Given the description of an element on the screen output the (x, y) to click on. 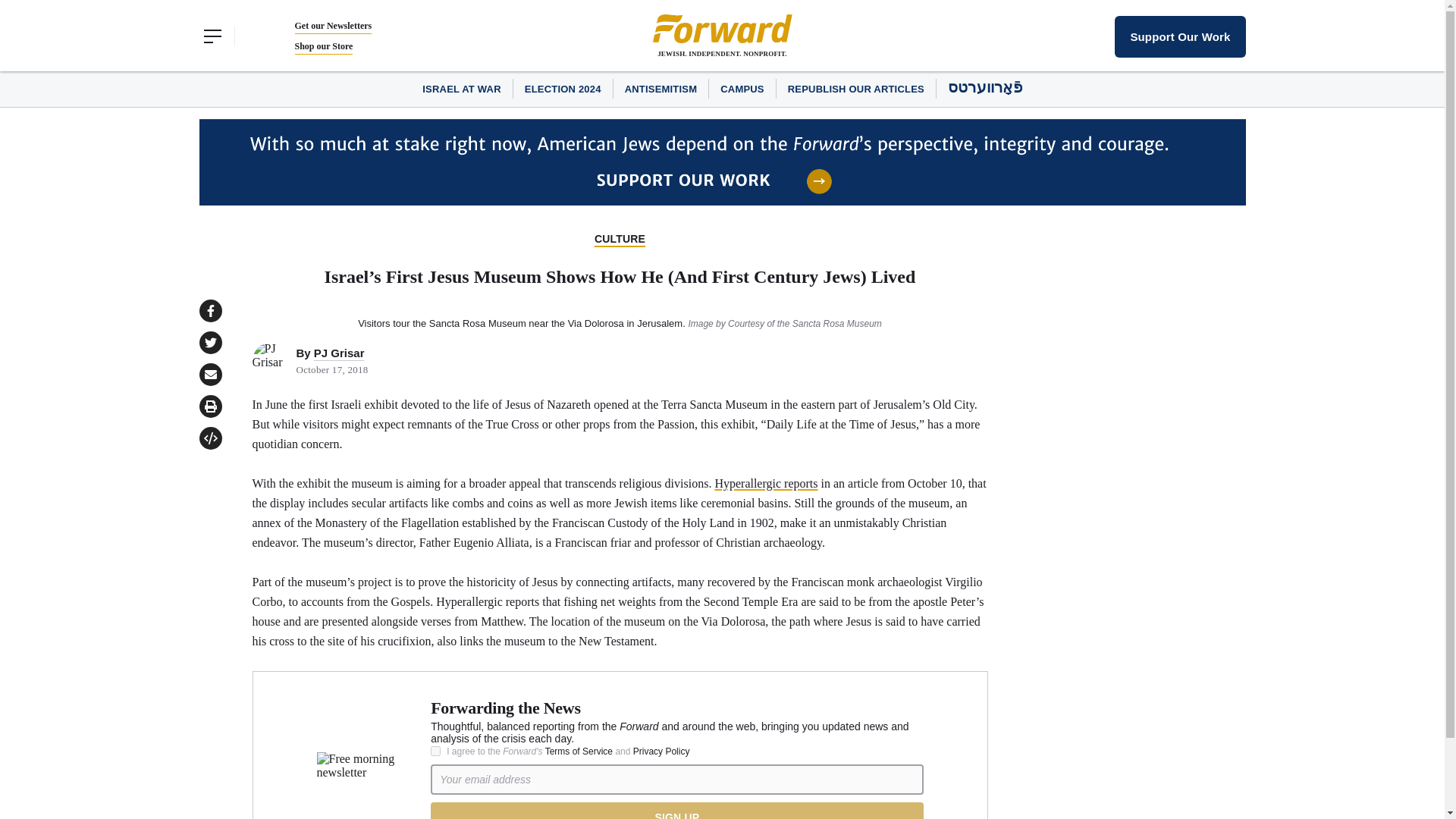
ELECTION 2024 (562, 89)
Get our Newsletters (332, 26)
ISRAEL AT WAR (461, 89)
Sign Up (676, 810)
Shop our Store (323, 46)
Click to open publish popup (209, 437)
Support Our Work (1179, 35)
ANTISEMITISM (660, 89)
Yes (435, 750)
